Given the description of an element on the screen output the (x, y) to click on. 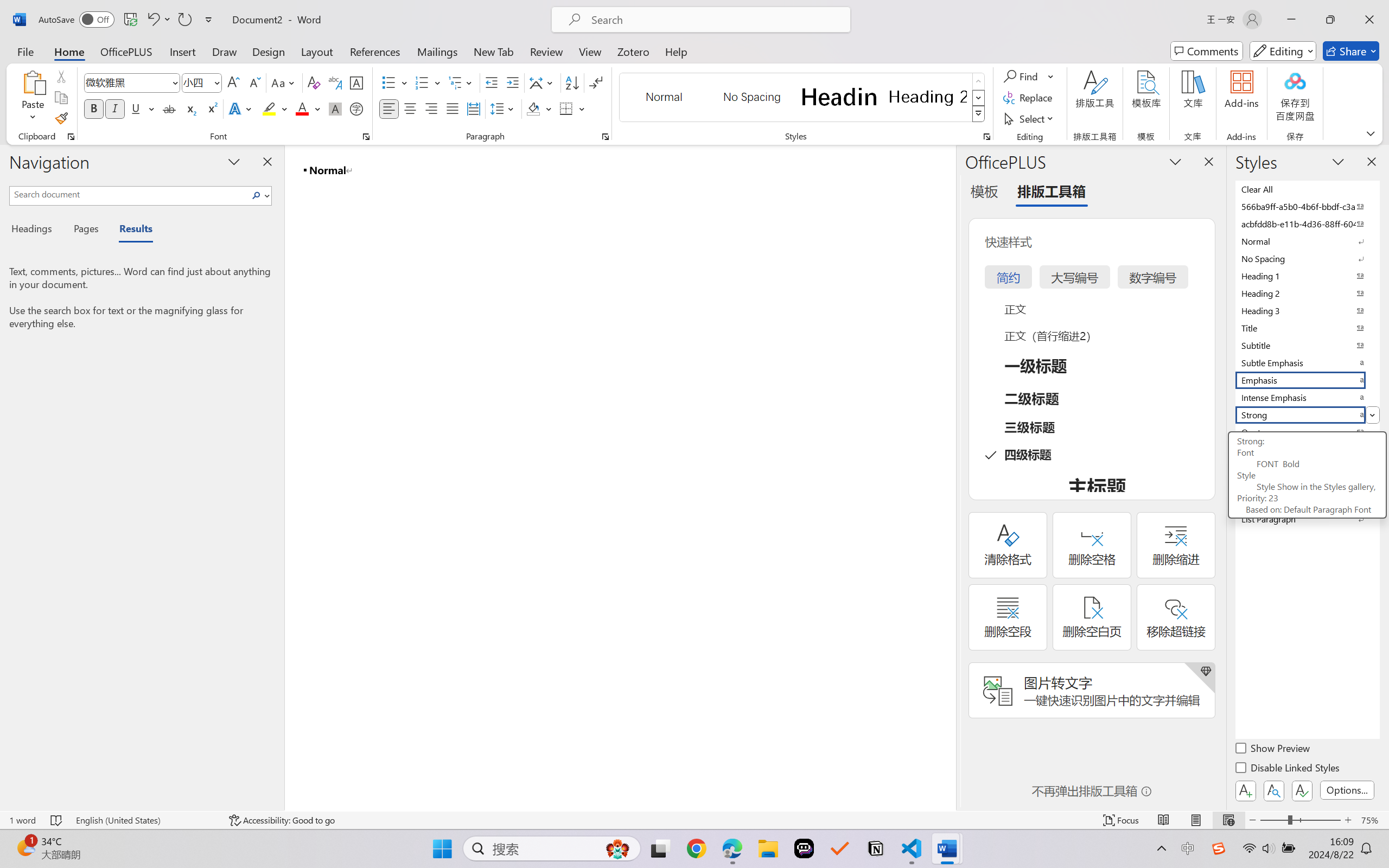
Share (1350, 51)
Font Color (308, 108)
Language English (United States) (144, 819)
AutomationID: DynamicSearchBoxGleamImage (617, 848)
Restore Down (1330, 19)
Word Count 1 word (21, 819)
Styles (978, 113)
Task Pane Options (1175, 161)
New Tab (493, 51)
Paragraph... (605, 136)
Accessibility Checker Accessibility: Good to go (282, 819)
Shading (539, 108)
